Given the description of an element on the screen output the (x, y) to click on. 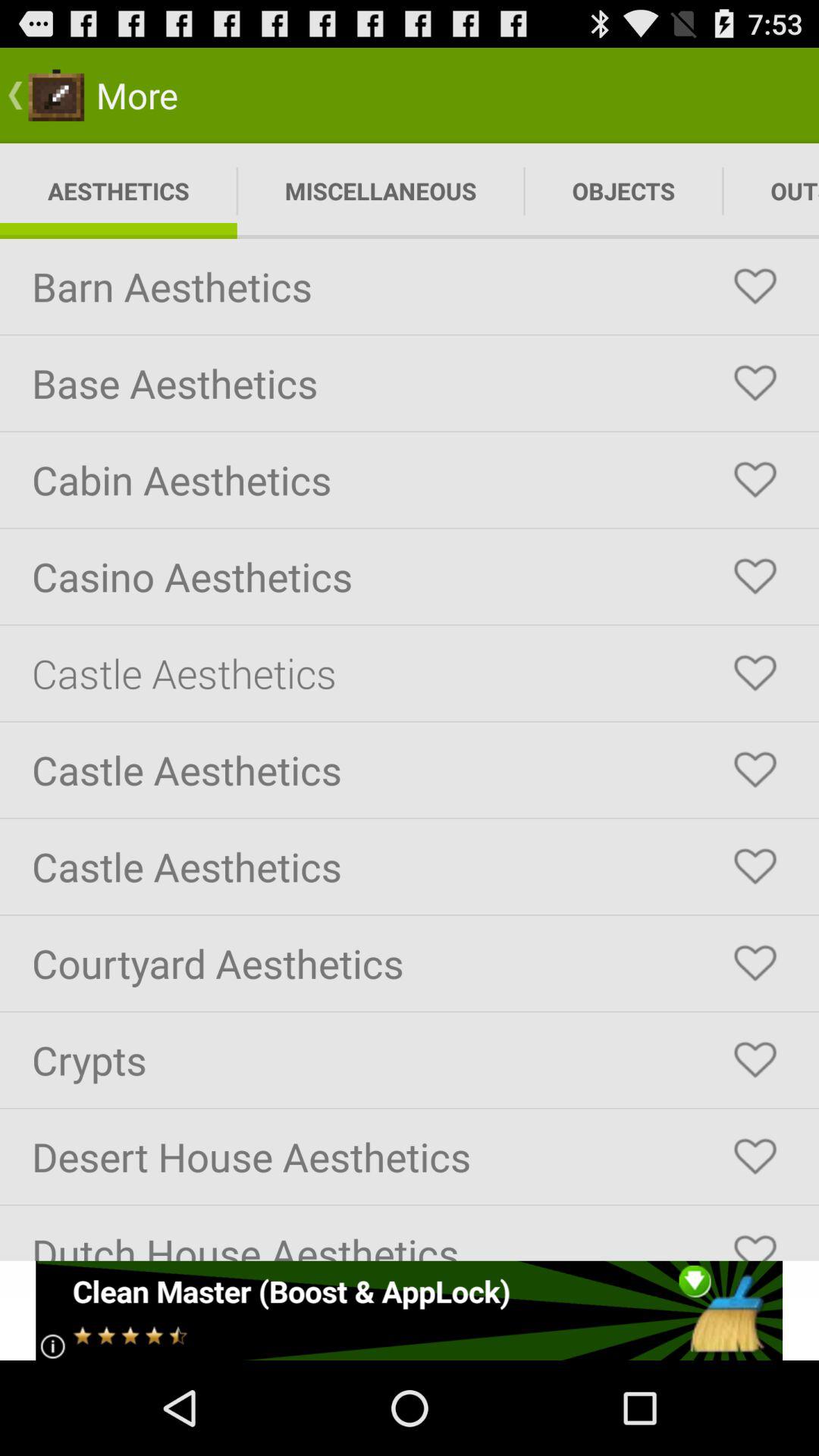
like the article option (755, 383)
